Given the description of an element on the screen output the (x, y) to click on. 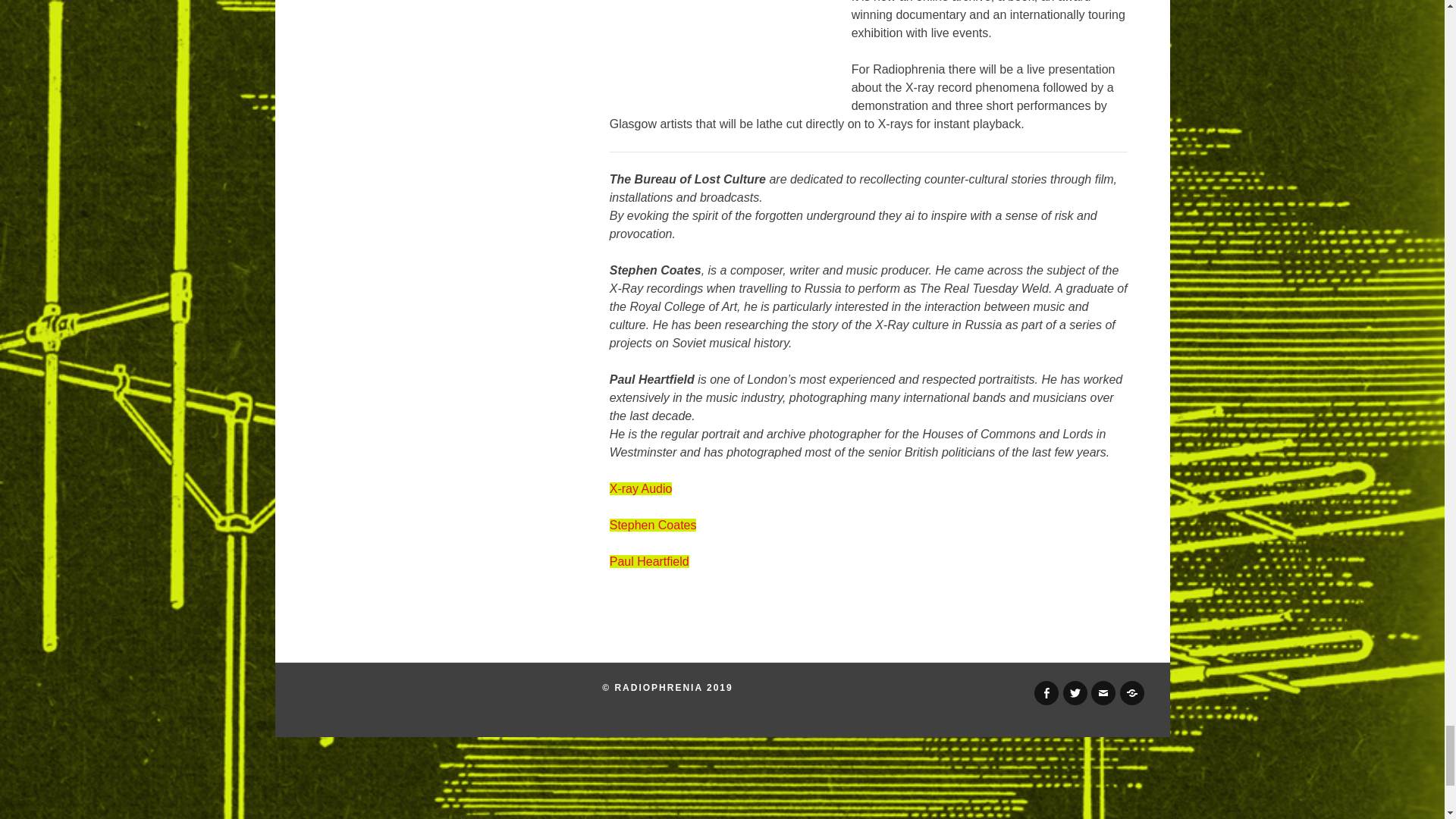
SOUNDCLOUD (1130, 692)
Paul Heartfield (649, 561)
EMAIL (1102, 692)
FACEBOOK (1045, 692)
TWITTER (1074, 692)
Stephen Coates (653, 524)
X-ray Audio (641, 488)
